Given the description of an element on the screen output the (x, y) to click on. 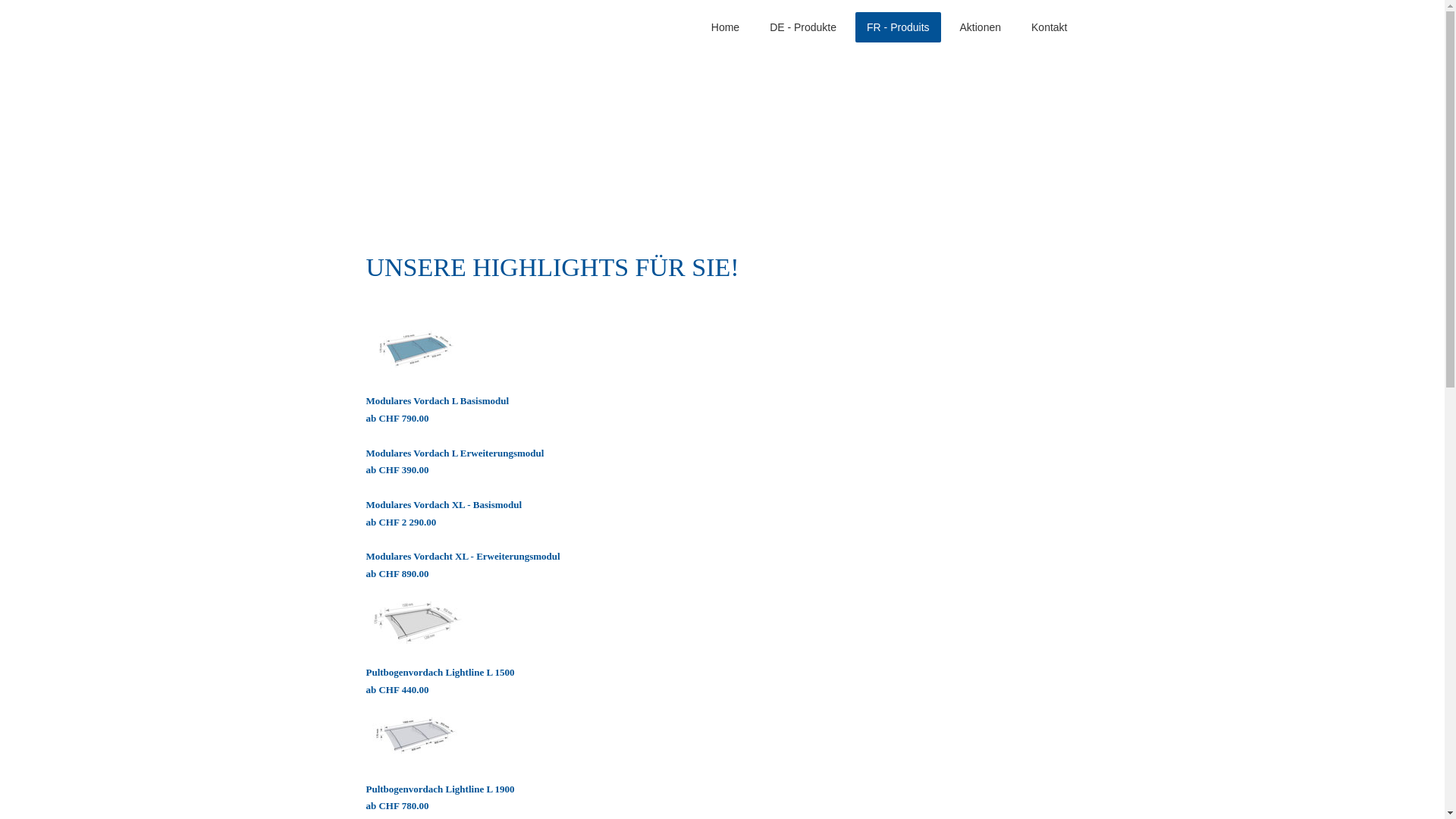
Aktionen Element type: text (980, 27)
DE - Produkte Element type: text (802, 27)
FR - Produits Element type: text (897, 27)
Modulares Vordach L Basismodul Element type: text (436, 400)
Pultbogenvordach Lightline L 1900 Element type: text (439, 788)
Pultbogenvordach Lightline L 1500 Element type: text (439, 671)
Kontakt Element type: text (1048, 27)
Modulares Vordach L Erweiterungsmodul Element type: text (454, 452)
Home Element type: text (724, 27)
Modulares Vordacht XL - Erweiterungsmodul Element type: text (462, 555)
Modulares Vordach XL - Basismodul Element type: text (443, 504)
